Given the description of an element on the screen output the (x, y) to click on. 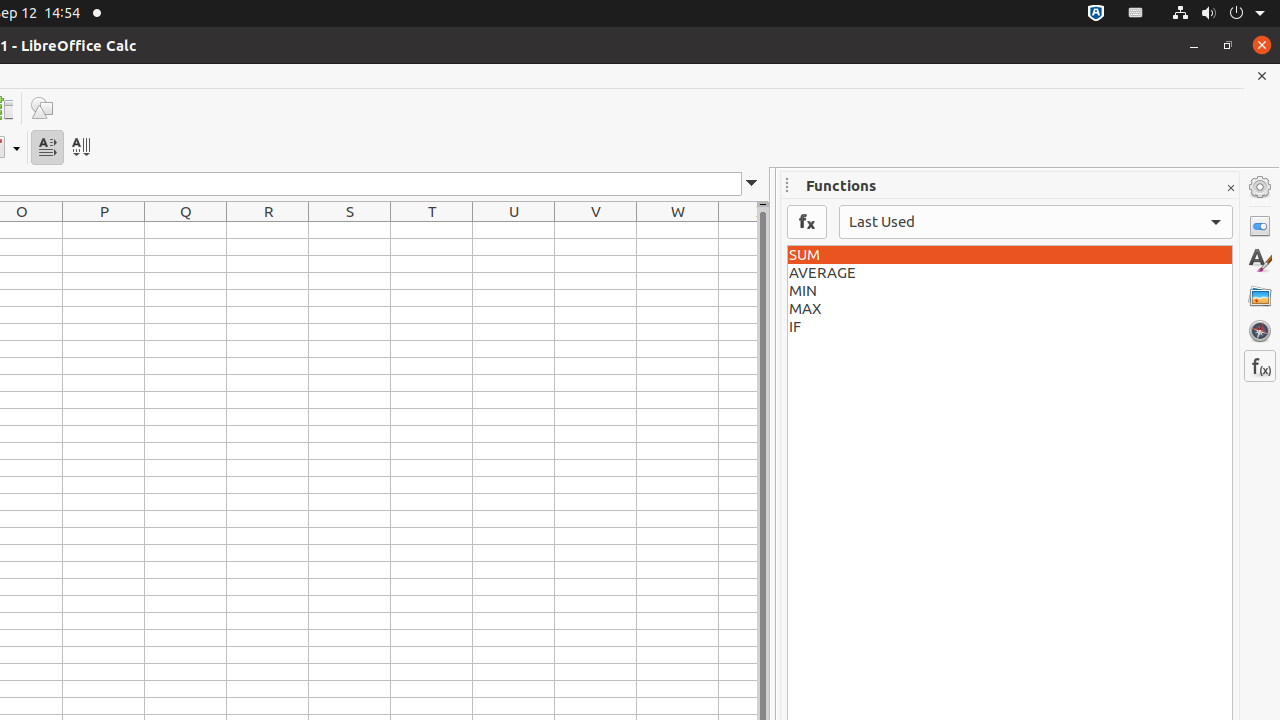
Functions Element type: radio-button (1260, 366)
Text direction from left to right Element type: toggle-button (47, 147)
W1 Element type: table-cell (678, 230)
System Element type: menu (1218, 13)
R1 Element type: table-cell (268, 230)
